Given the description of an element on the screen output the (x, y) to click on. 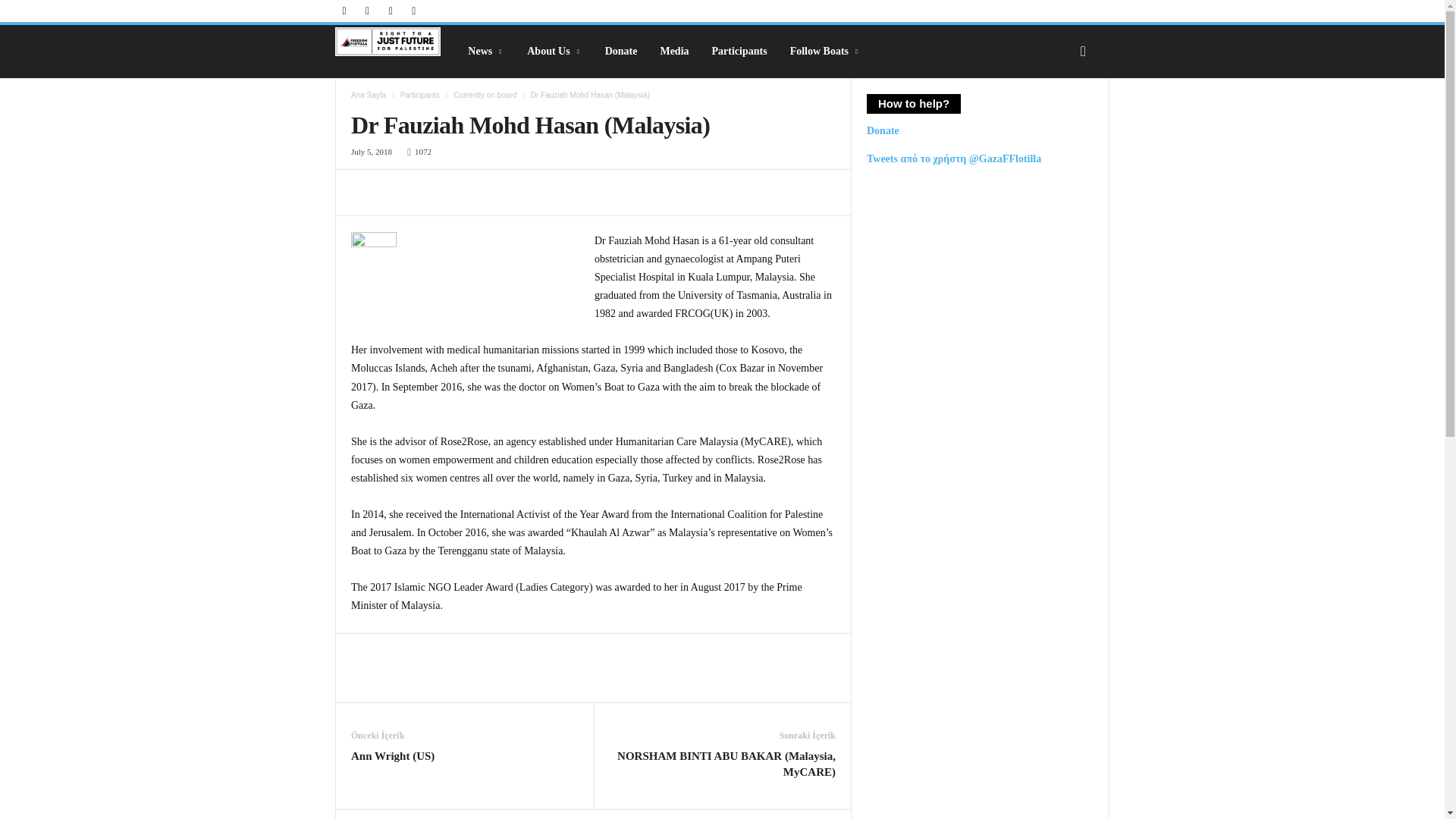
Just Future for Palestine (387, 41)
Just Future for Palestine (395, 41)
News (486, 51)
